Given the description of an element on the screen output the (x, y) to click on. 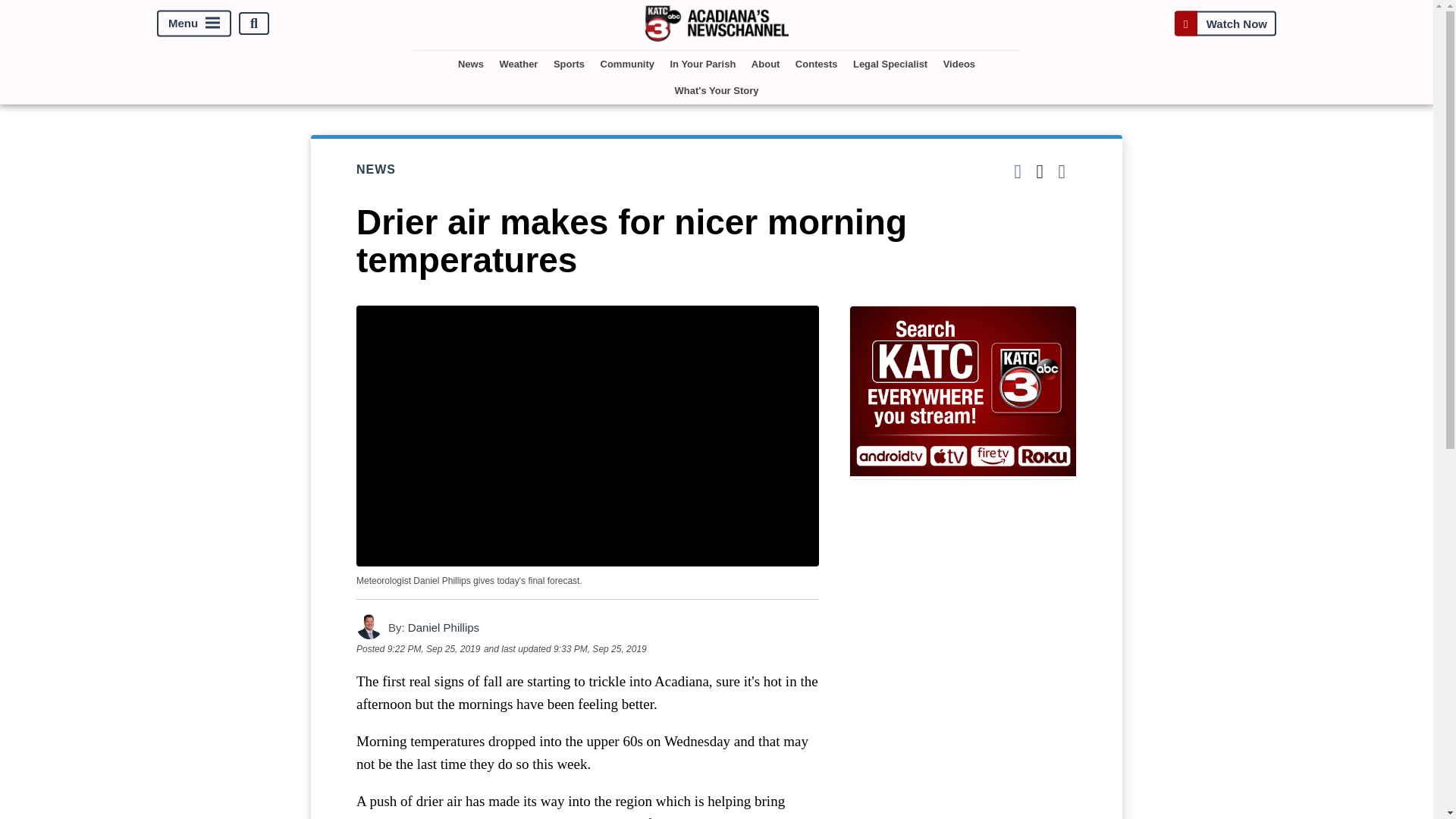
Watch Now (1224, 23)
Menu (194, 23)
